Given the description of an element on the screen output the (x, y) to click on. 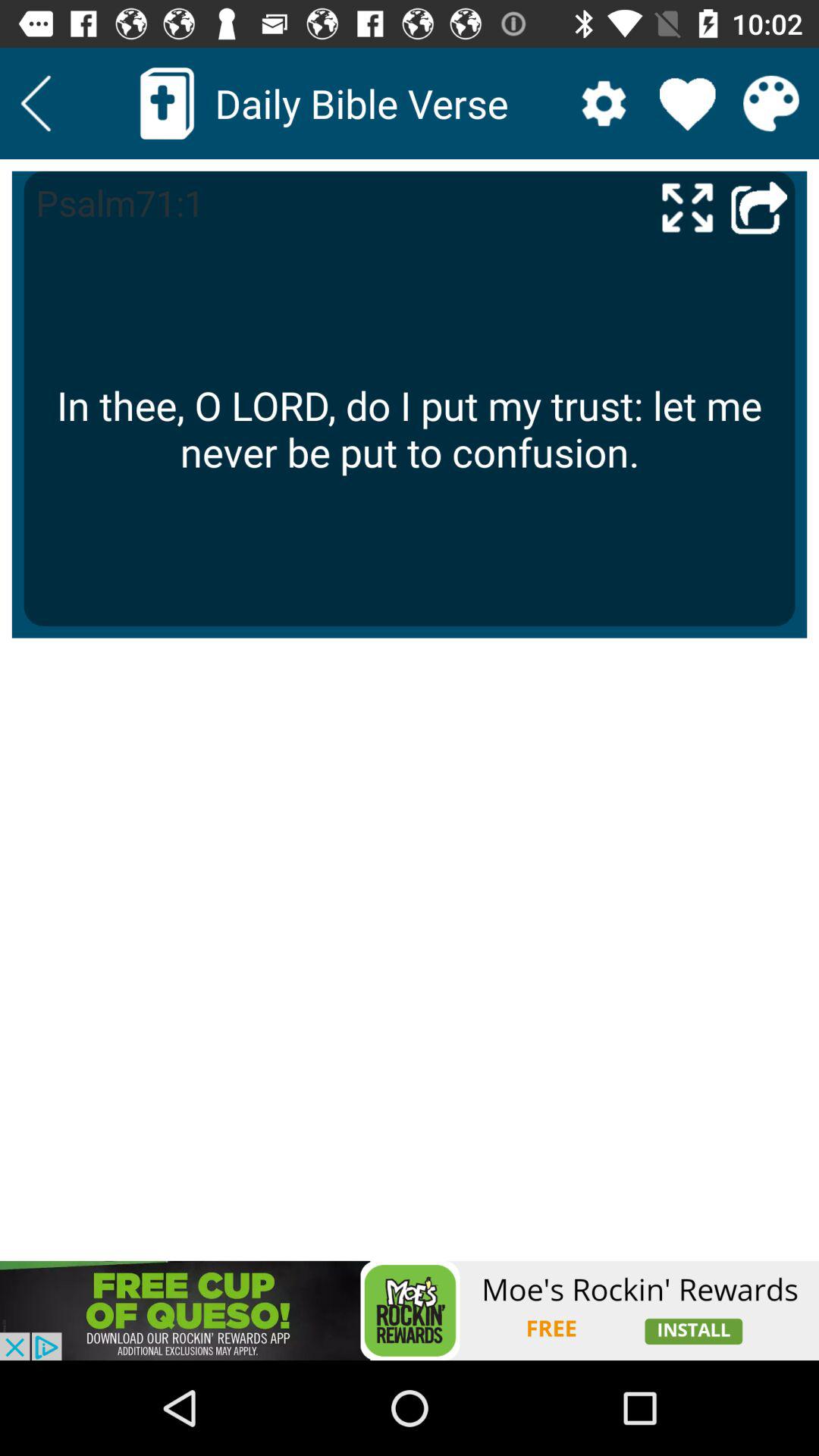
make fullscreen (687, 206)
